Given the description of an element on the screen output the (x, y) to click on. 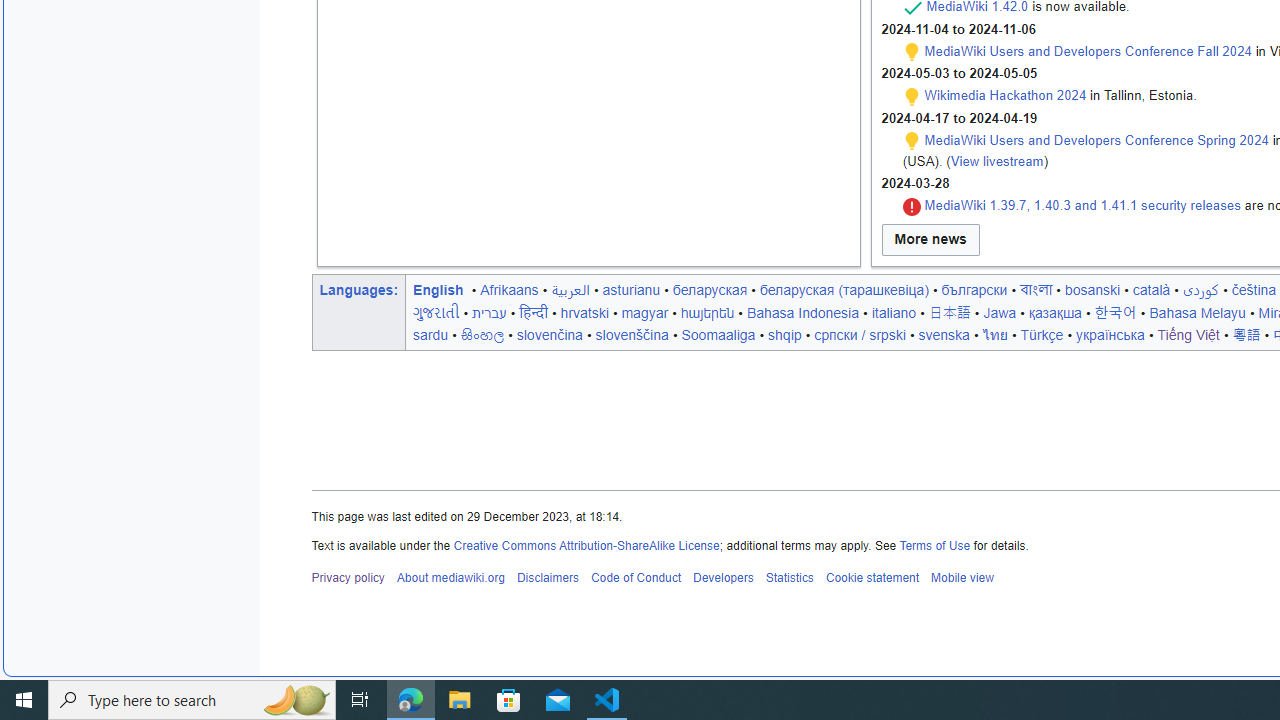
shqip (785, 334)
English (438, 289)
Cookie statement (872, 578)
Wikimedia Hackathon 2024 (1005, 95)
Bahasa Indonesia (802, 312)
Afrikaans (509, 289)
Developers (722, 578)
Jawa (1000, 312)
Soomaaliga (718, 334)
